Given the description of an element on the screen output the (x, y) to click on. 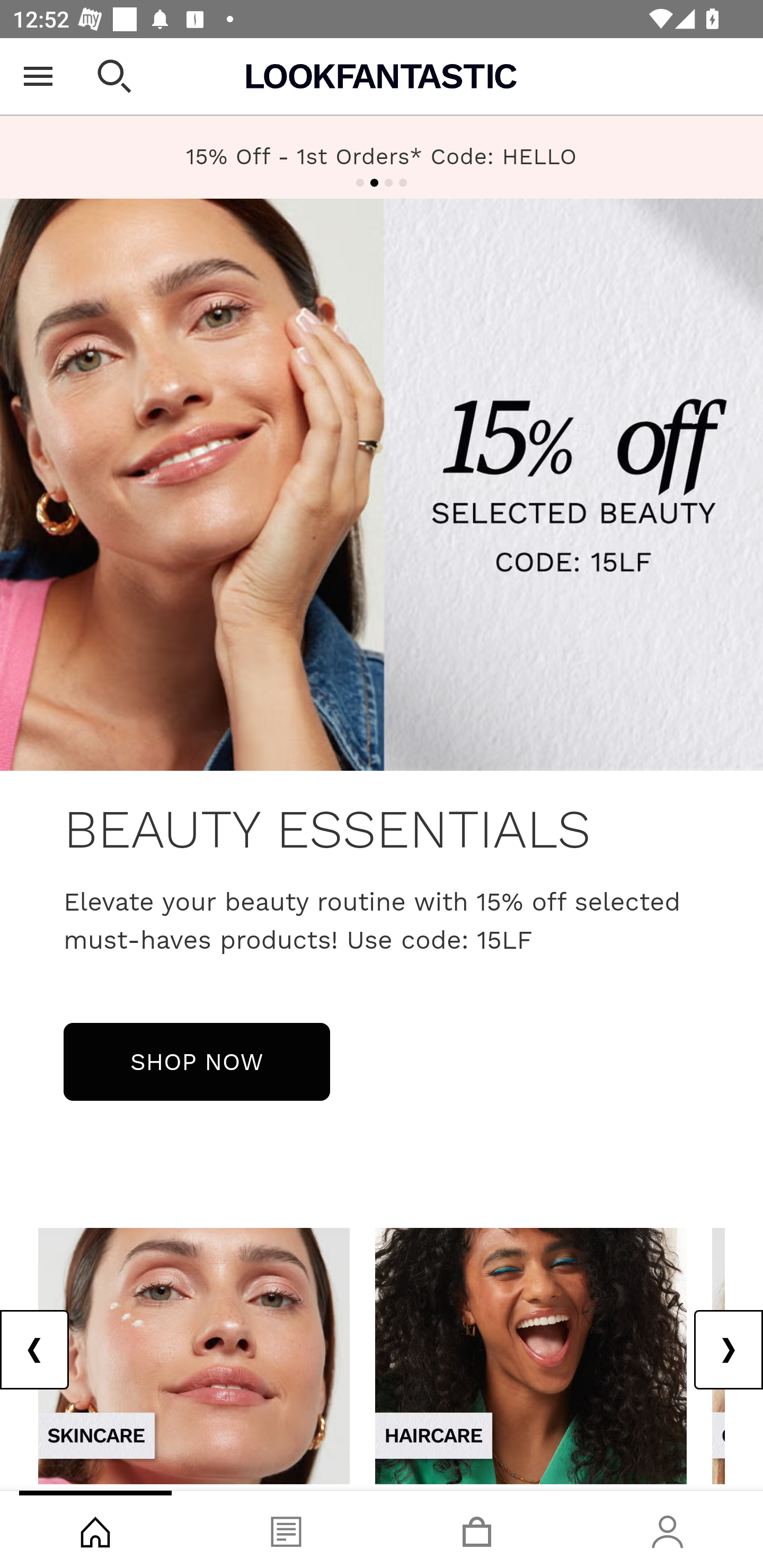
Open Menu (38, 75)
Open search (114, 75)
Lookfantastic USA (381, 75)
SHOP NOW (196, 1061)
view-all (193, 1355)
view-all (530, 1355)
Previous (35, 1349)
Next (727, 1349)
Shop, tab, 1 of 4 (95, 1529)
Blog, tab, 2 of 4 (285, 1529)
Basket, tab, 3 of 4 (476, 1529)
Account, tab, 4 of 4 (667, 1529)
